Given the description of an element on the screen output the (x, y) to click on. 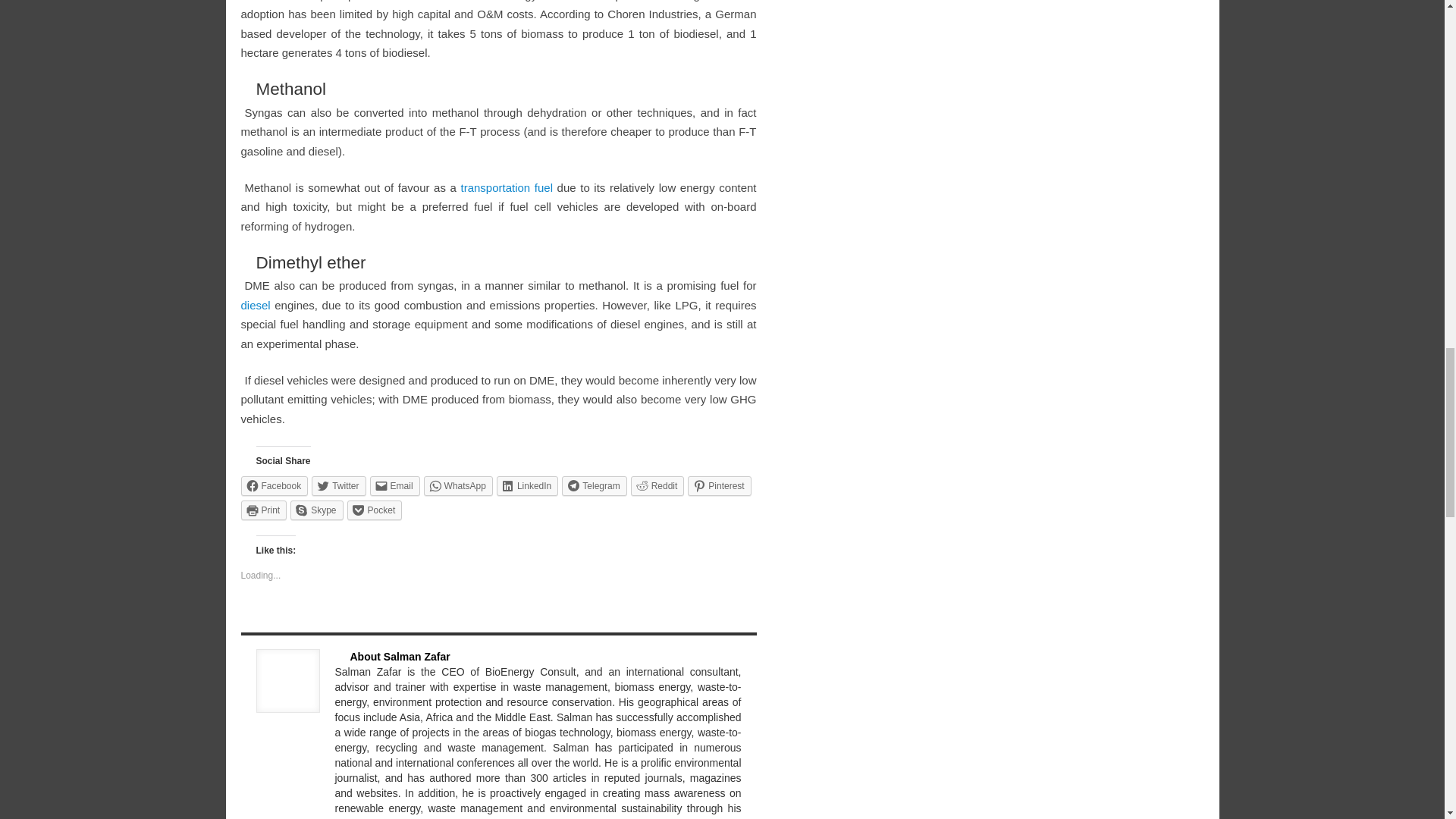
transportation fuel (506, 187)
Pocket (375, 510)
Click to email this to a friend (394, 485)
Twitter (338, 485)
Pinterest (719, 485)
Print (263, 510)
Skype (315, 510)
Click to share on Twitter (338, 485)
Click to share on WhatsApp (458, 485)
WhatsApp (458, 485)
LinkedIn (526, 485)
Email (394, 485)
Reddit (657, 485)
diesel (255, 305)
Telegram (594, 485)
